Given the description of an element on the screen output the (x, y) to click on. 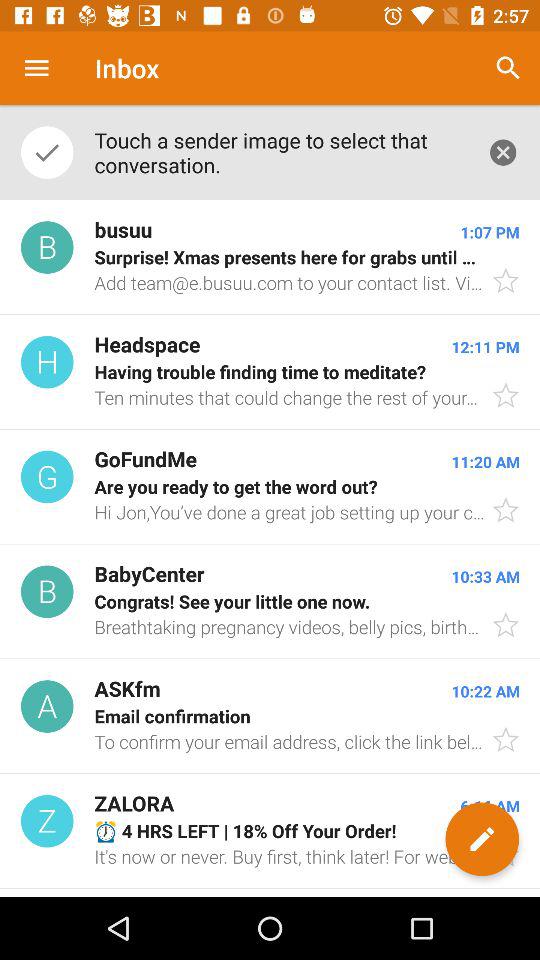
press the icon to the right of touch a sender icon (503, 152)
